Given the description of an element on the screen output the (x, y) to click on. 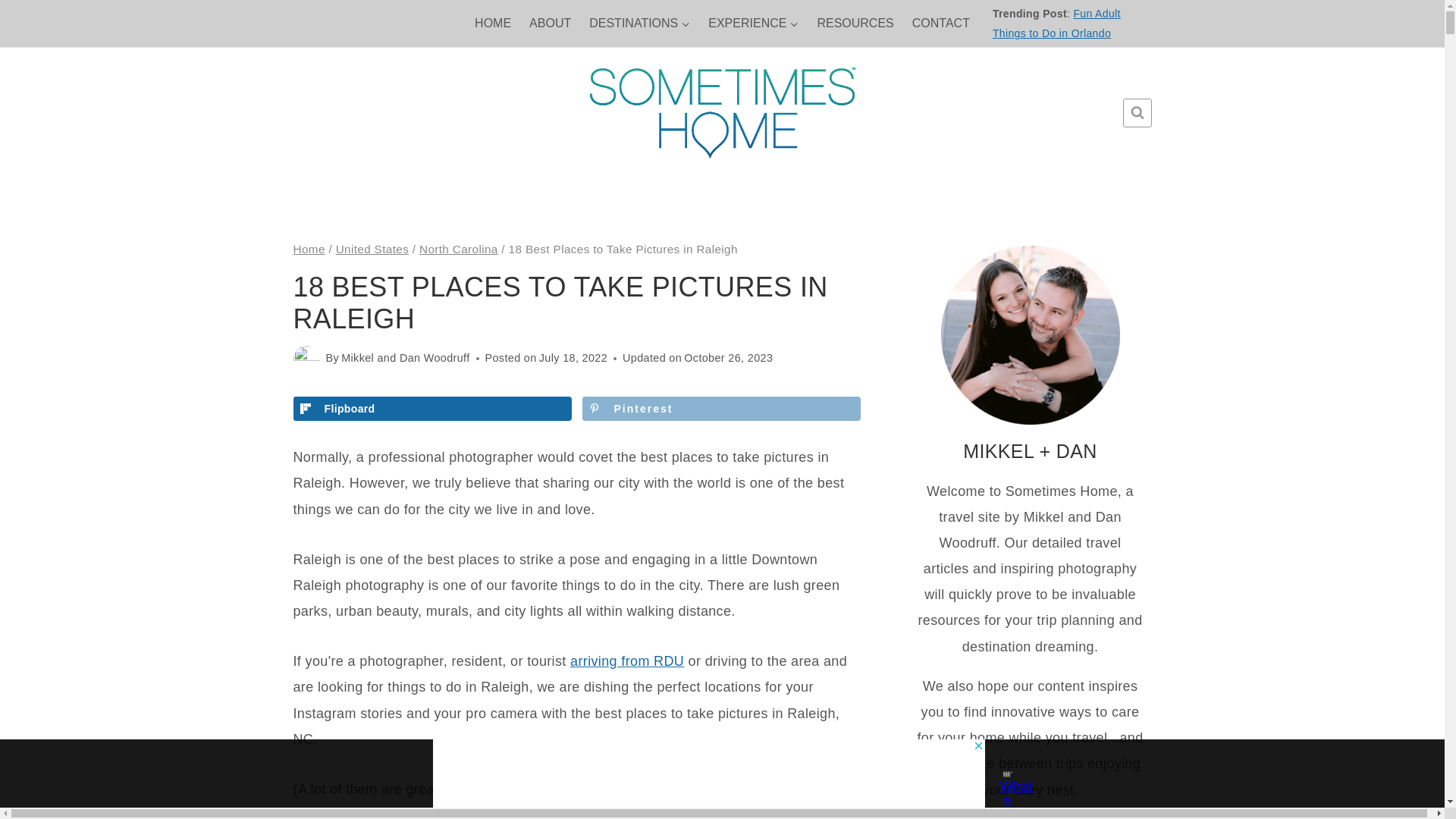
Save to Pinterest (721, 408)
ABOUT (549, 23)
3rd party ad content (708, 773)
HOME (492, 23)
DESTINATIONS (638, 23)
Share on Flipboard (431, 408)
